Given the description of an element on the screen output the (x, y) to click on. 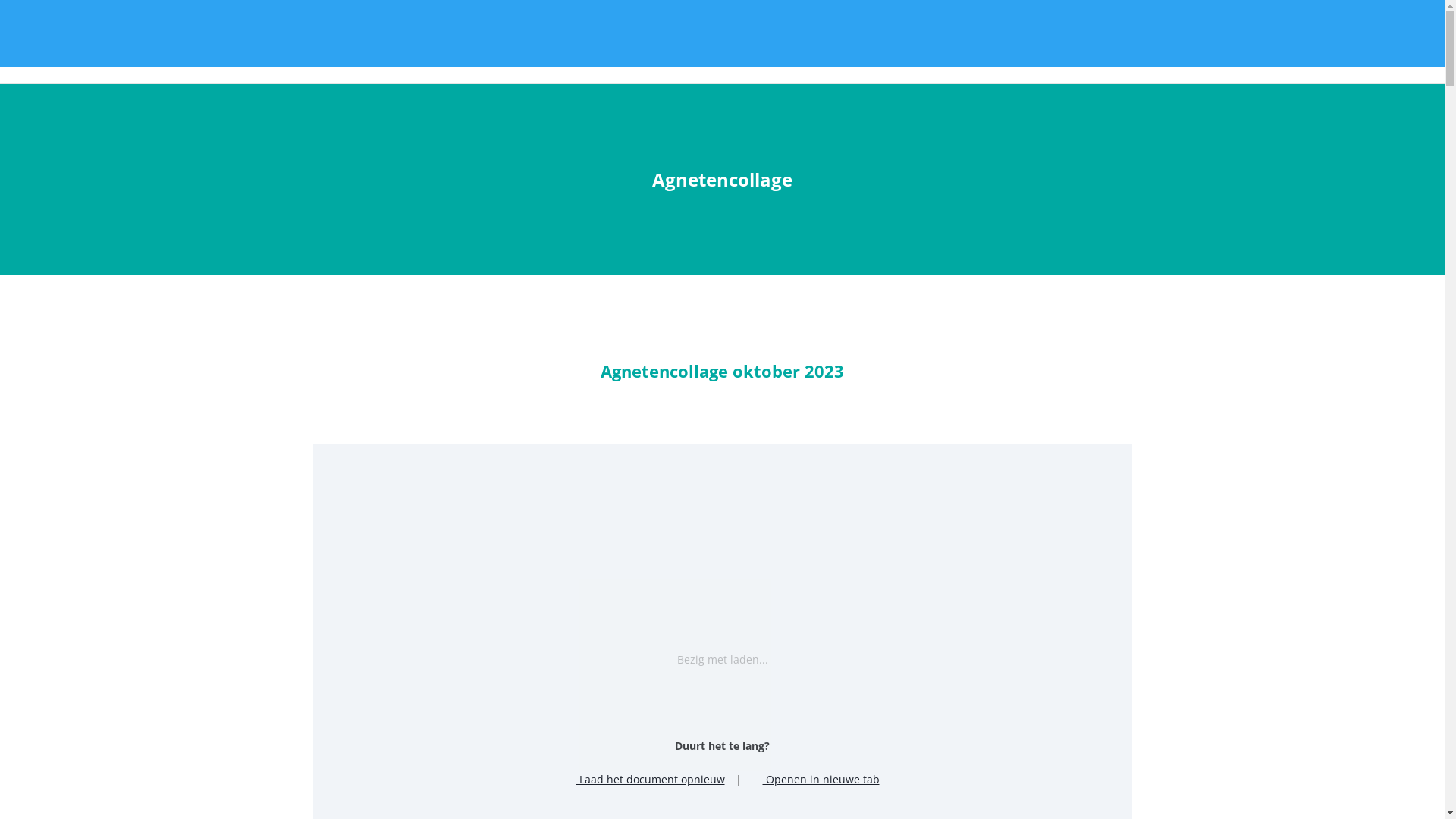
Openen in nieuwe tab Element type: text (815, 779)
Agneteninternaat Element type: text (1375, 65)
Studieaanbod Element type: text (681, 65)
Digisprong Element type: text (920, 65)
Activiteiten Element type: text (997, 65)
Kalender Element type: text (1193, 65)
Buitenlandse reizen Element type: text (1098, 65)
Inschrijvingen 2023-2024 Element type: text (808, 65)
Algemene info Element type: text (1273, 65)
Home Element type: text (602, 65)
